Given the description of an element on the screen output the (x, y) to click on. 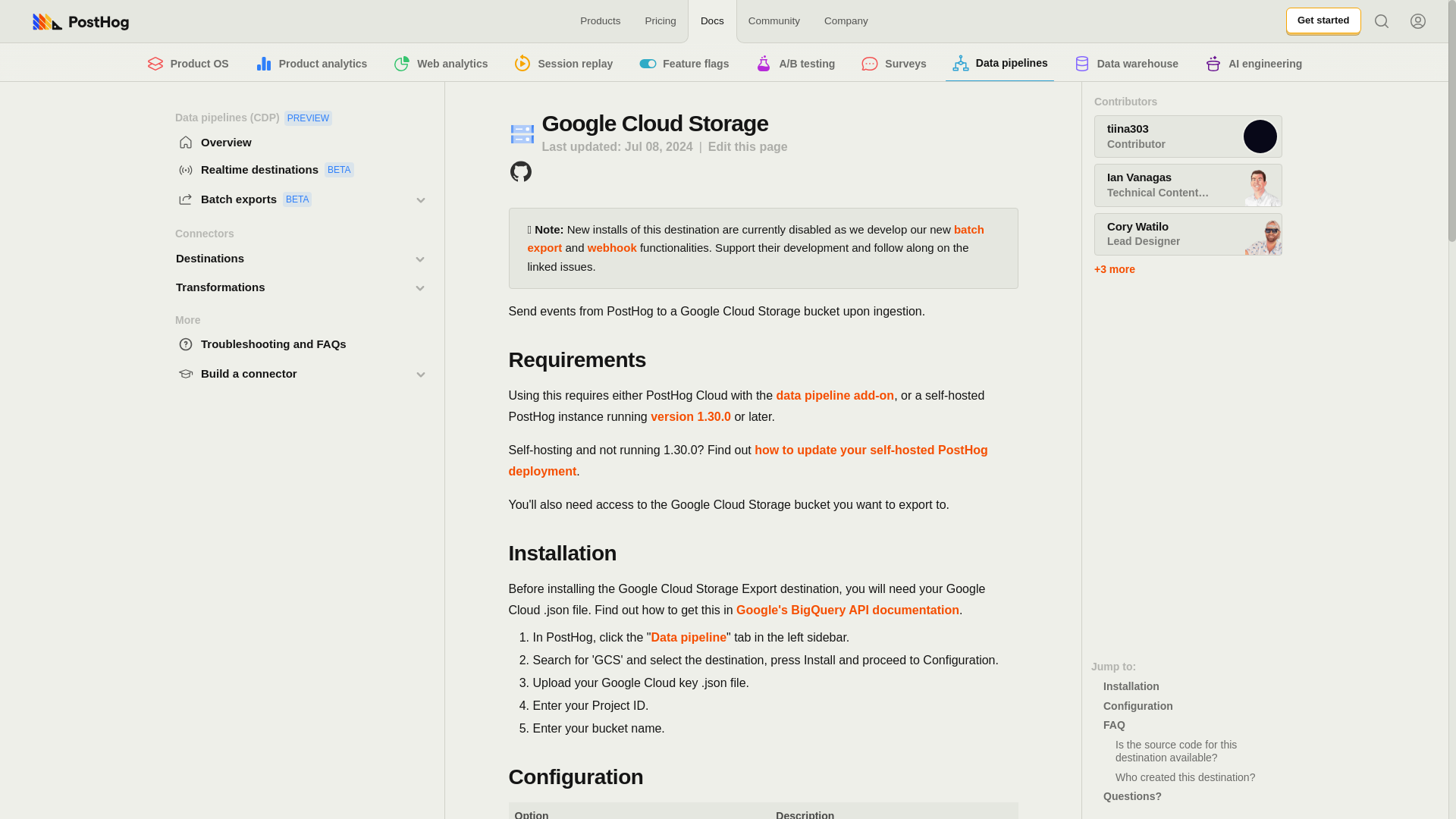
Data pipelines (999, 62)
Product OS (187, 63)
Company (846, 21)
Overview (298, 143)
Destinations (298, 200)
Product analytics (287, 258)
Get started (310, 63)
Docs (1322, 22)
Web analytics (712, 21)
